Given the description of an element on the screen output the (x, y) to click on. 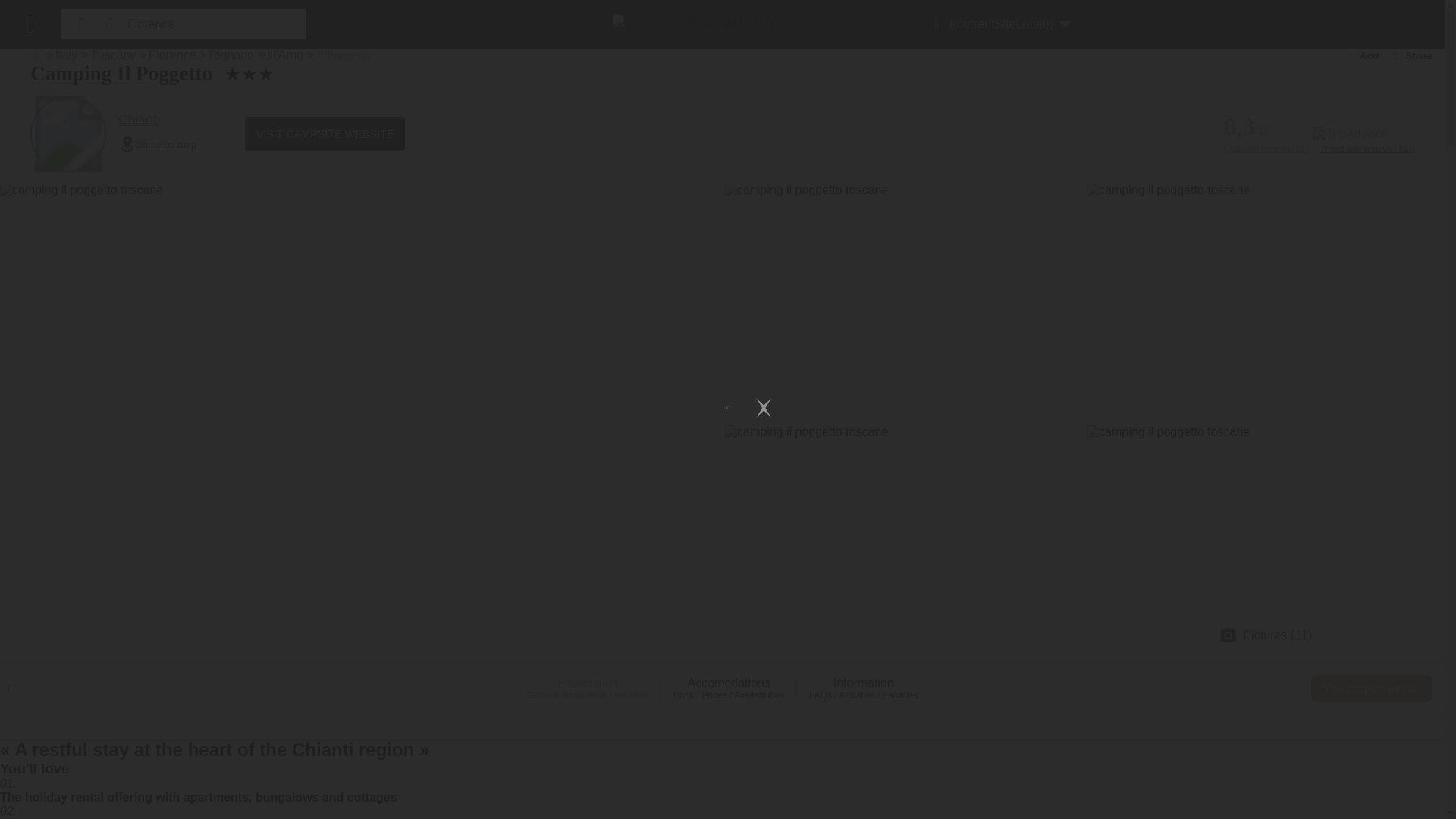
Visit campsite website (1371, 687)
Share (1411, 55)
Italy (66, 54)
Florence (171, 54)
Chianti (156, 119)
Luxury campsites in Rignano sull'Arno (255, 54)
Florence (203, 24)
Il Poggetto (342, 54)
Luxury campsites in Italy (66, 54)
VISIT CAMPSITE WEBSITE (324, 133)
